Given the description of an element on the screen output the (x, y) to click on. 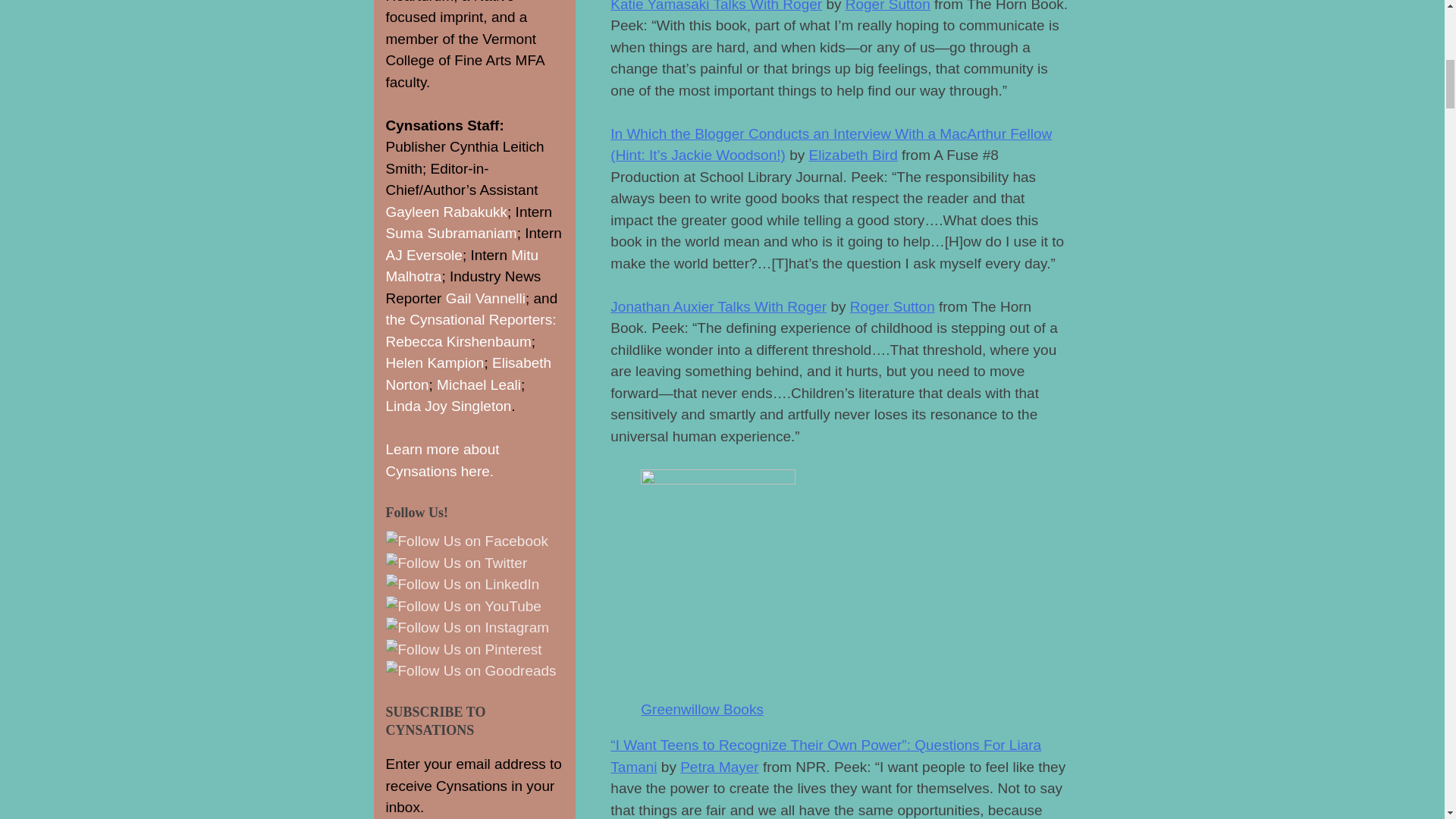
Petra Mayer (718, 766)
Follow Us on Instagram (466, 628)
Follow Us on Twitter (456, 563)
Follow Us on YouTube (462, 607)
Greenwillow Books (701, 709)
Elizabeth Bird (852, 154)
Follow Us on Facebook (466, 541)
Katie Yamasaki Talks With Roger (716, 6)
Follow Us on Goodreads (470, 671)
Follow Us on LinkedIn (461, 585)
